Given the description of an element on the screen output the (x, y) to click on. 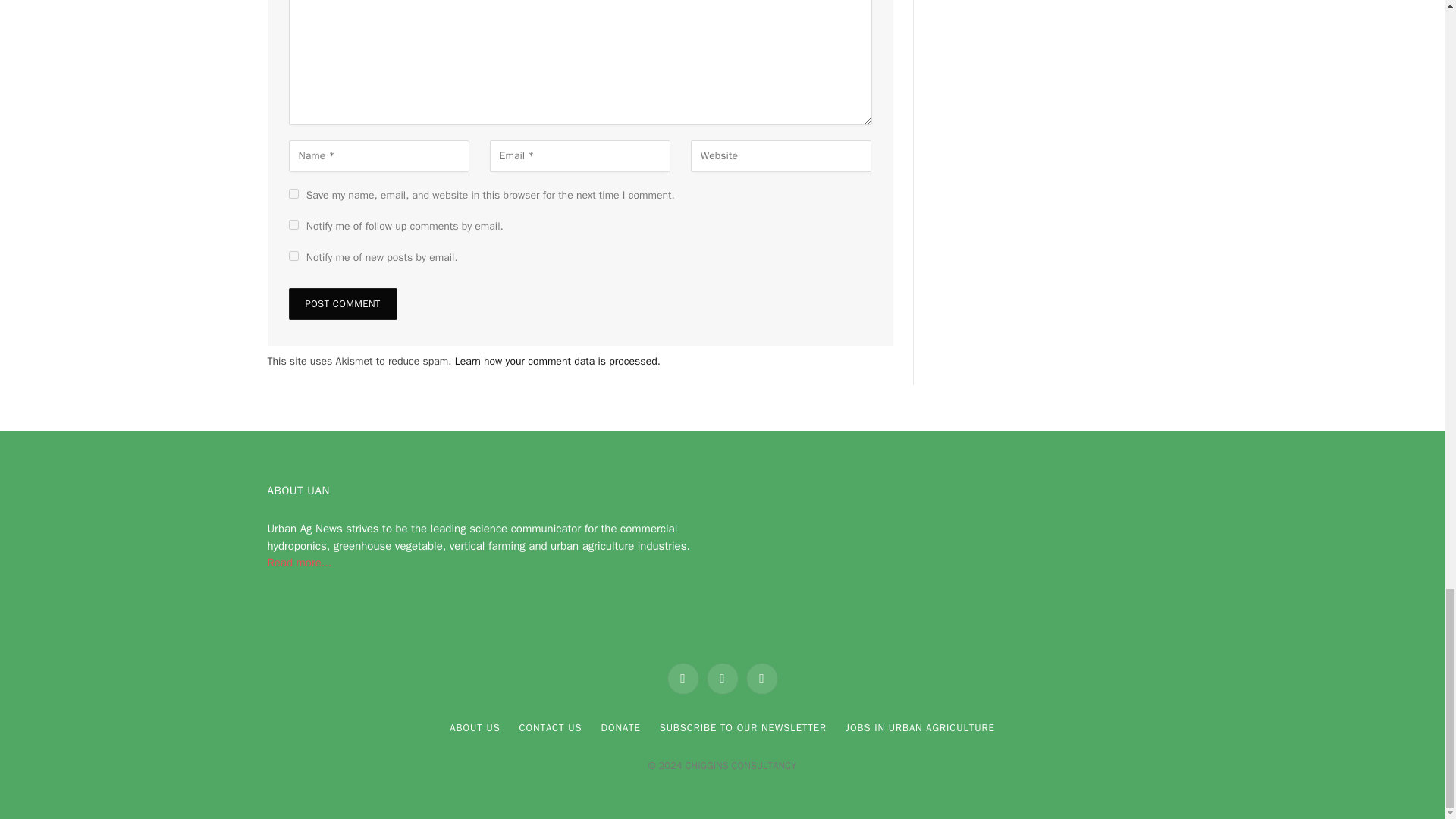
subscribe (293, 255)
subscribe (293, 225)
Post Comment (342, 304)
yes (293, 194)
